Given the description of an element on the screen output the (x, y) to click on. 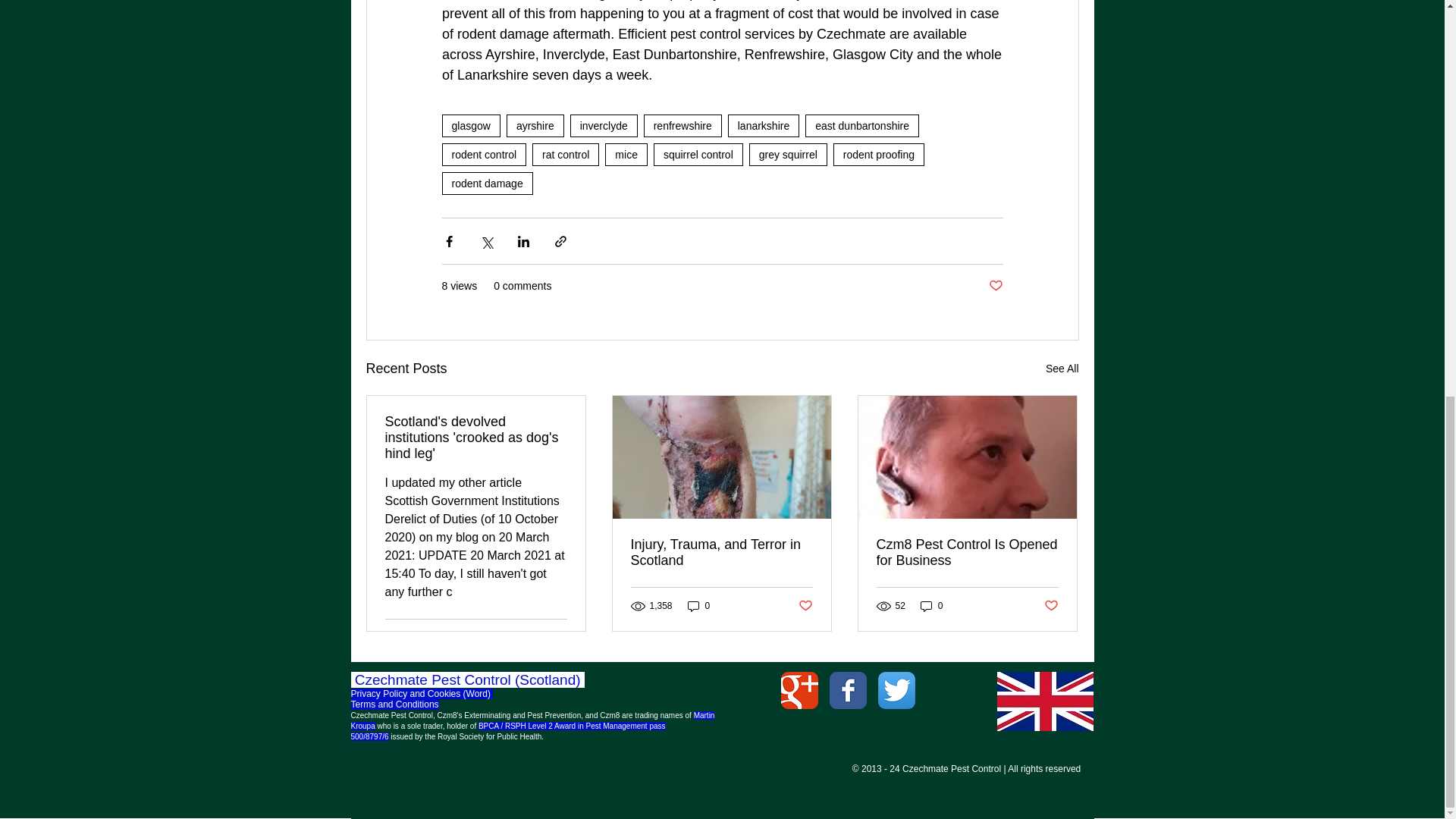
Scotland's devolved institutions 'crooked as dog's hind leg' (476, 437)
squirrel control (697, 154)
ayrshire (535, 125)
Post not marked as liked (1050, 606)
Post not marked as liked (804, 606)
Czm8 Pest Control Is Opened for Business (967, 552)
0 (698, 605)
rodent proofing (878, 154)
renfrewshire (682, 125)
See All (1061, 368)
